Given the description of an element on the screen output the (x, y) to click on. 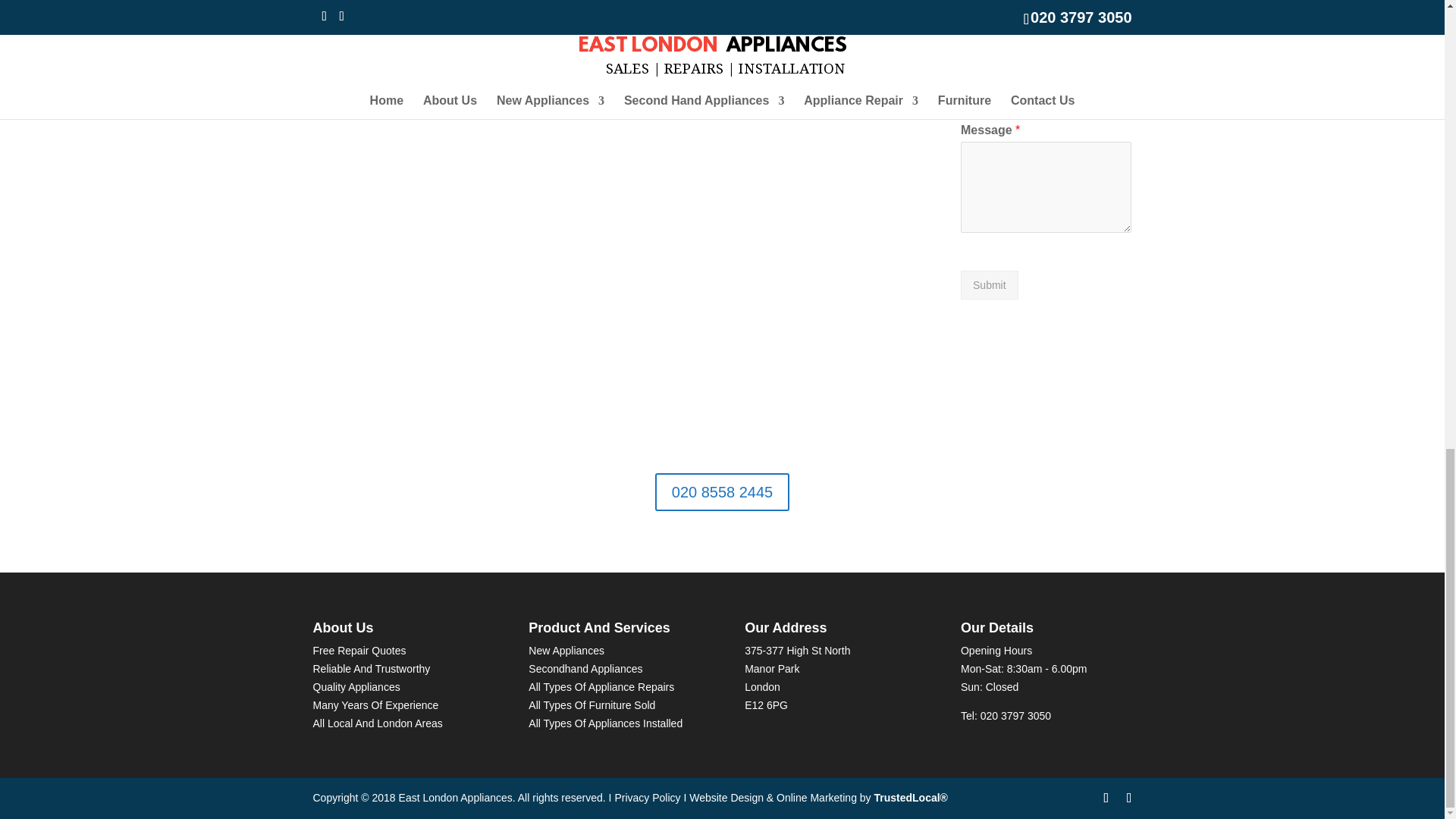
020 3797 3050 (1015, 715)
Submit (988, 285)
020 8558 2445 (722, 492)
